Given the description of an element on the screen output the (x, y) to click on. 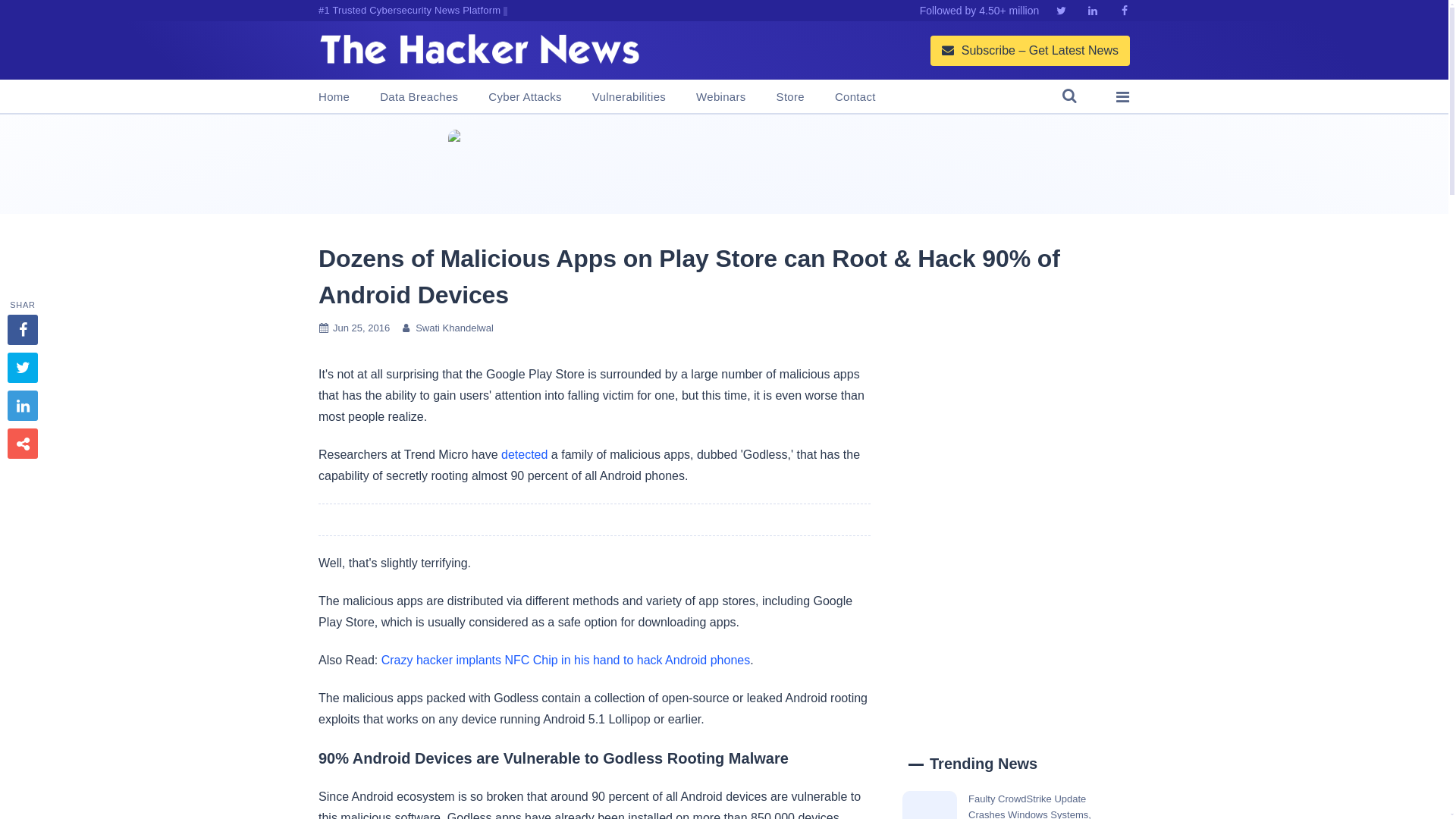
Home (333, 96)
Contact (855, 96)
Store (790, 96)
Vulnerabilities (628, 96)
detected (523, 454)
Data Breaches (419, 96)
Webinars (720, 96)
Insider Risk Management (723, 164)
Cyber Attacks (523, 96)
